Given the description of an element on the screen output the (x, y) to click on. 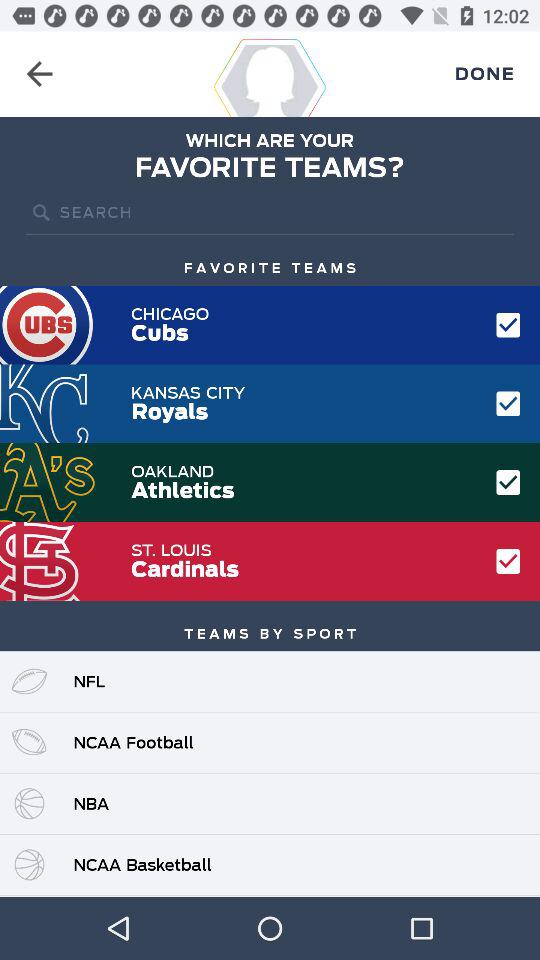
tap the icon at the top left corner (39, 73)
